Given the description of an element on the screen output the (x, y) to click on. 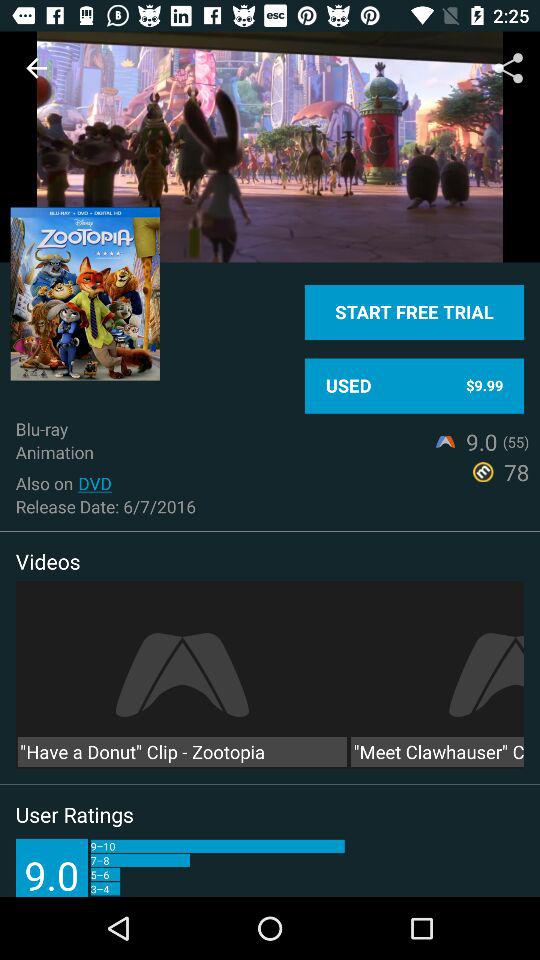
press the item next to 78 icon (94, 483)
